Given the description of an element on the screen output the (x, y) to click on. 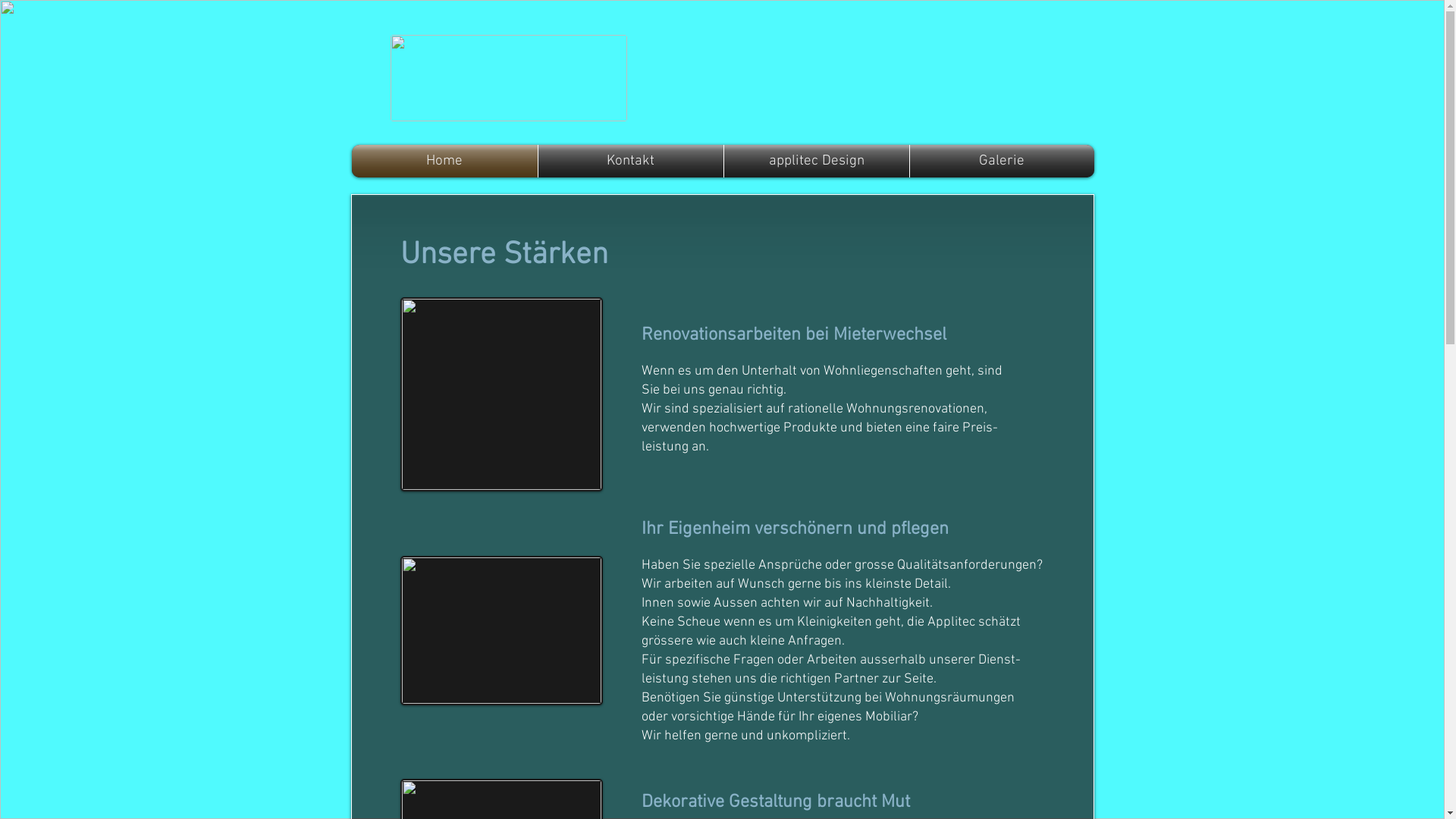
Modern Apartment Element type: hover (501, 394)
Grey House Element type: hover (501, 630)
Kontakt Element type: text (630, 160)
applitec Original ohne Hintergrund grau.png Element type: hover (507, 77)
Galerie Element type: text (1002, 160)
Home Element type: text (444, 160)
applitec Design Element type: text (815, 160)
